Given the description of an element on the screen output the (x, y) to click on. 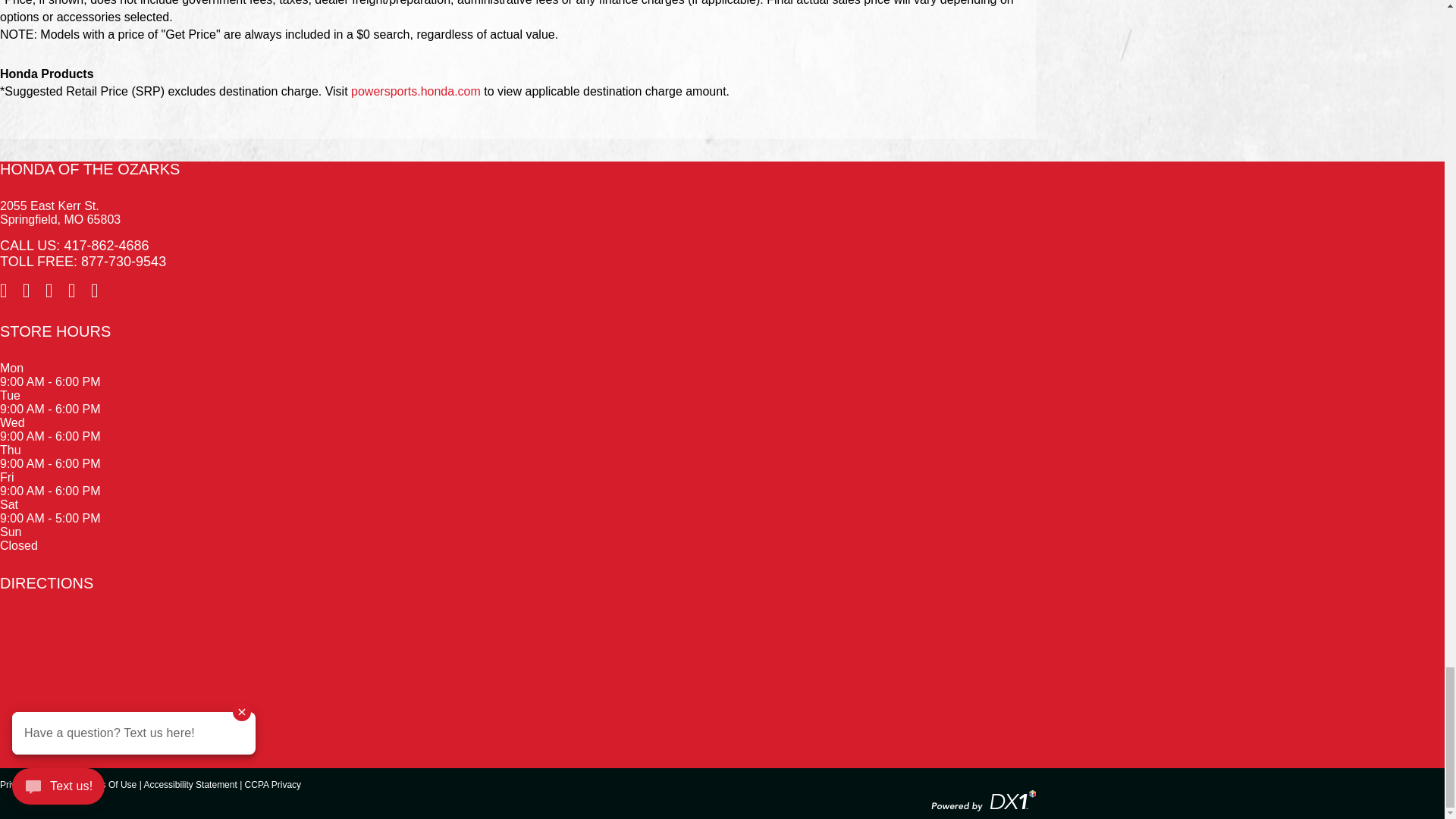
Interactive Map (517, 670)
Powered by DX1 (983, 799)
